Given the description of an element on the screen output the (x, y) to click on. 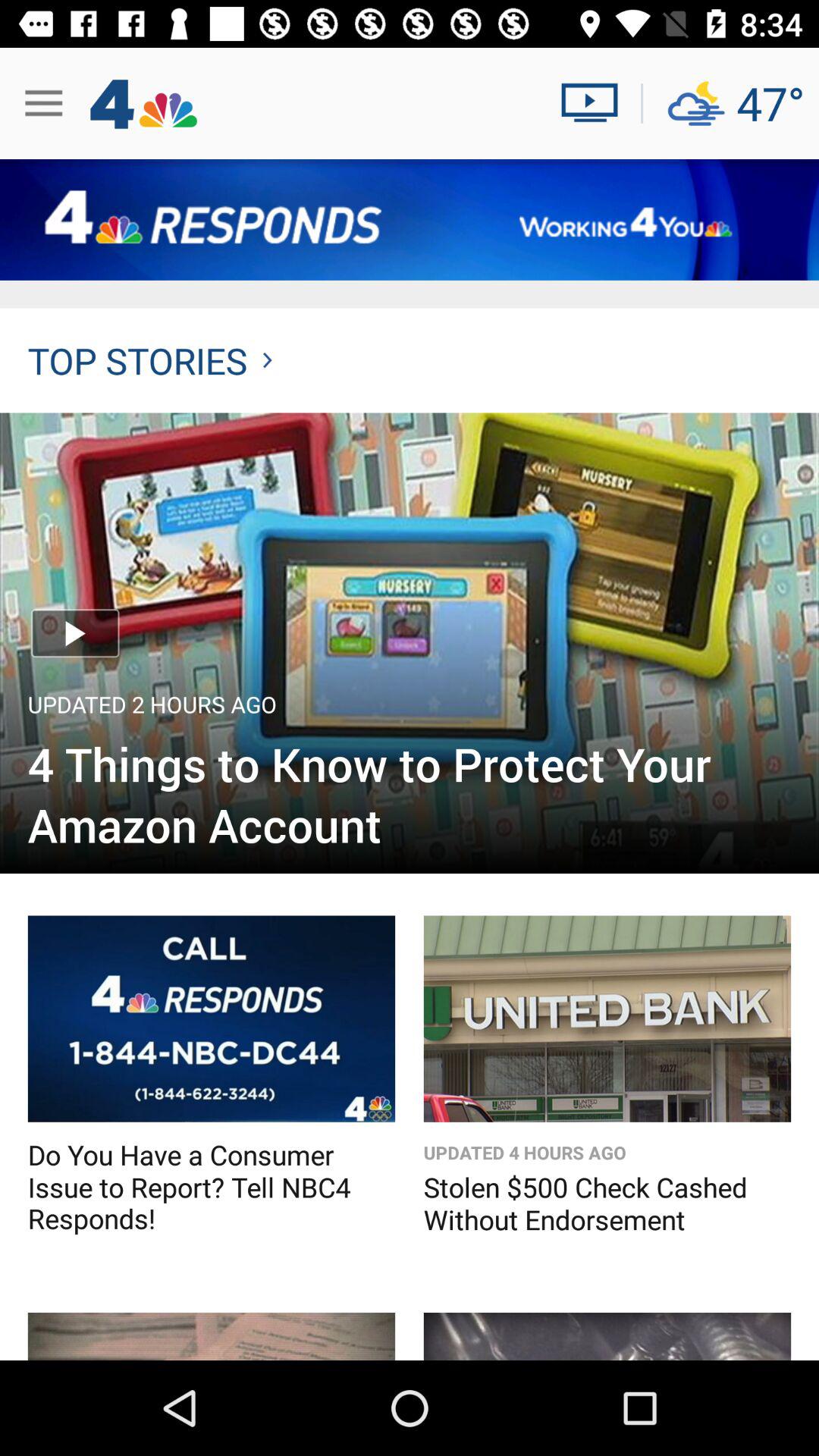
tap the top stories (149, 360)
